Given the description of an element on the screen output the (x, y) to click on. 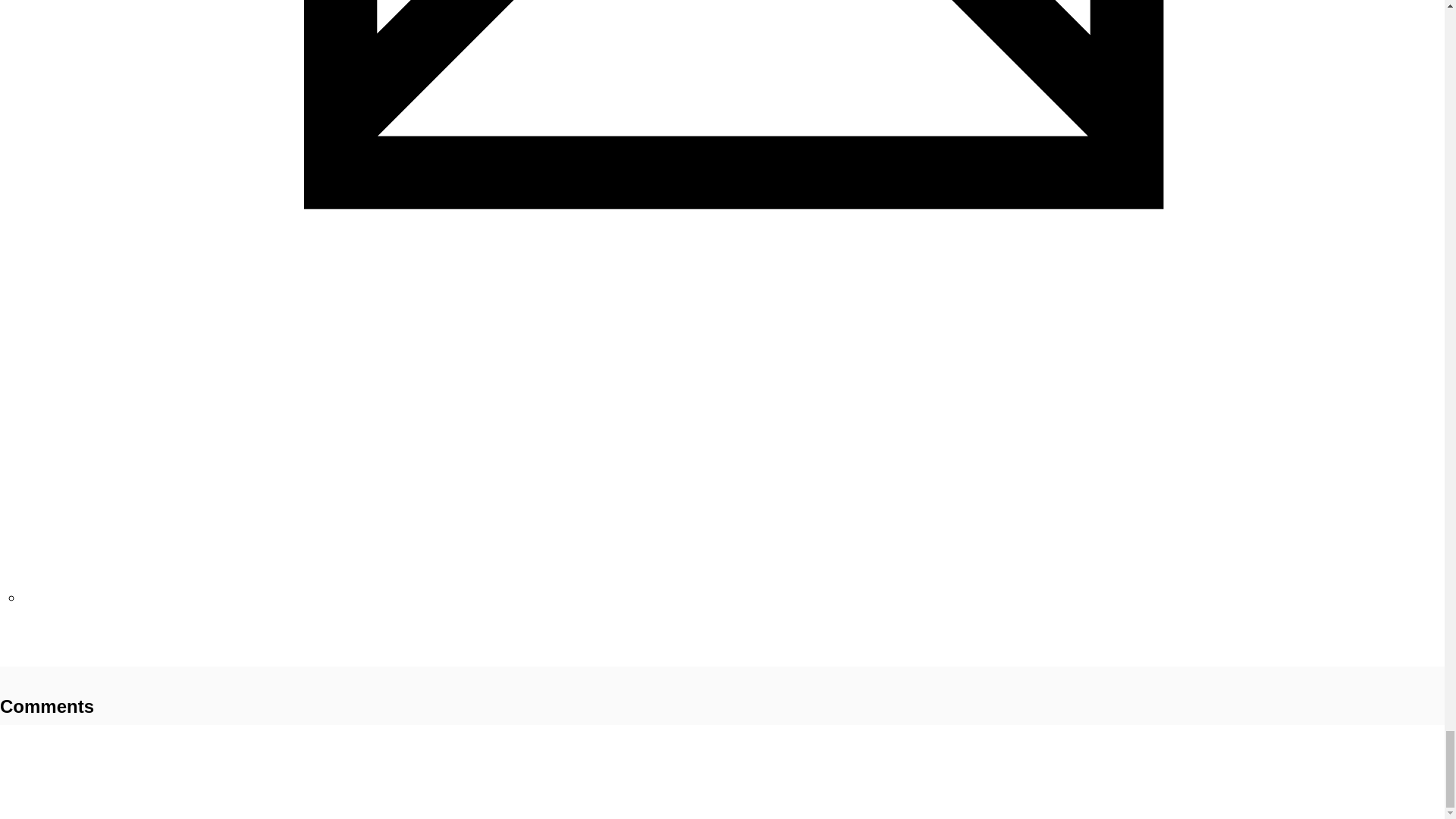
Share your thoughts and opinions related to this posting. (50, 656)
Email (733, 596)
ADD NEW COMMENT (50, 656)
